Given the description of an element on the screen output the (x, y) to click on. 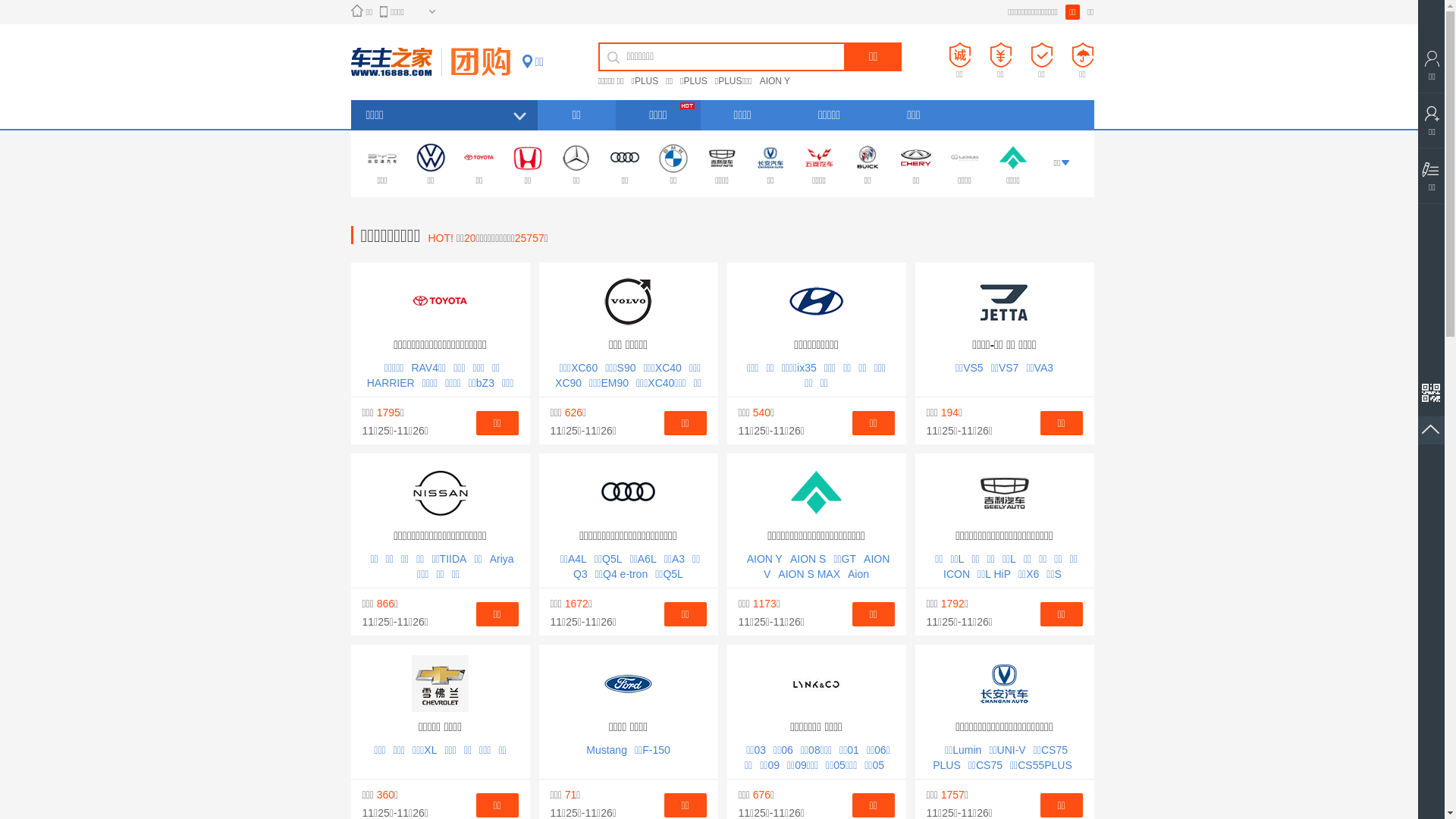
AION Y Element type: text (764, 558)
AION S MAX Element type: text (809, 573)
Aion LX Element type: text (821, 581)
AION V Element type: text (826, 566)
AION S Element type: text (807, 558)
AION Y Element type: text (778, 80)
Mustang Element type: text (606, 749)
